Given the description of an element on the screen output the (x, y) to click on. 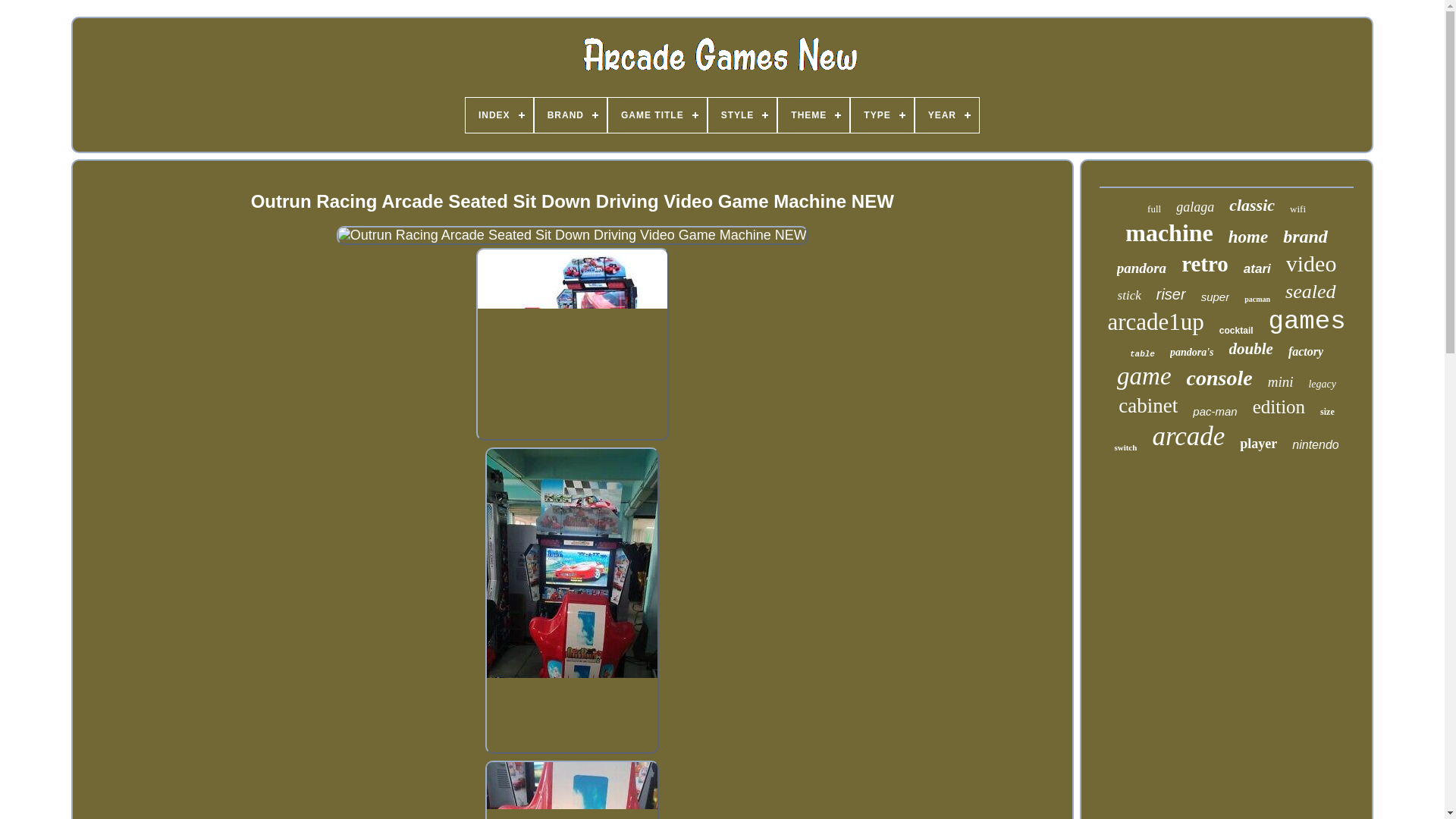
BRAND (570, 114)
INDEX (498, 114)
GAME TITLE (657, 114)
